Given the description of an element on the screen output the (x, y) to click on. 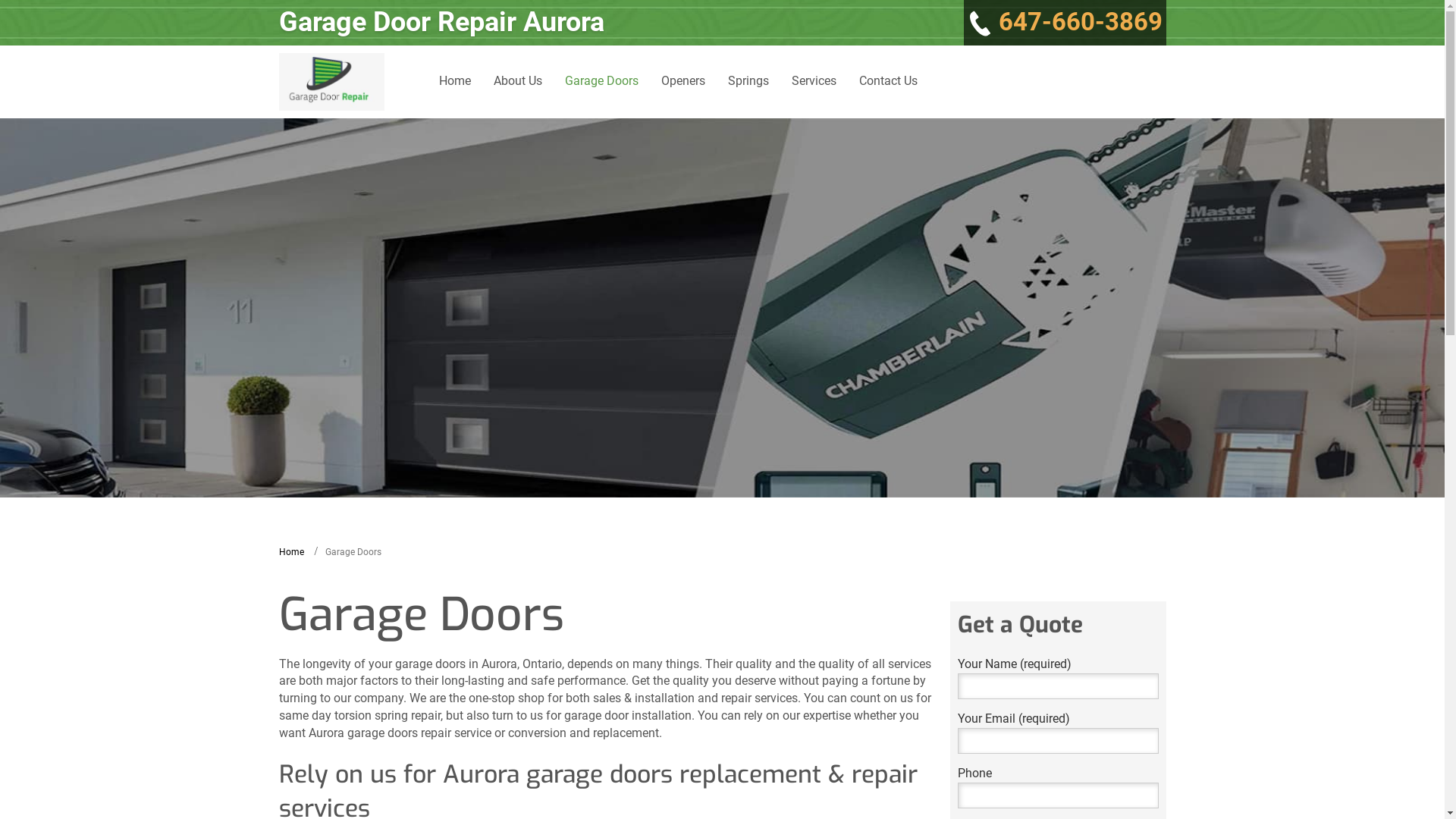
Springs Element type: text (748, 81)
Garage Doors Element type: text (601, 81)
Openers Element type: text (682, 81)
Home Element type: text (454, 81)
Contact Us Element type: text (887, 81)
About Us Element type: text (517, 81)
647-660-3869 Element type: text (1064, 22)
Home Element type: text (291, 551)
Services Element type: text (813, 81)
